Given the description of an element on the screen output the (x, y) to click on. 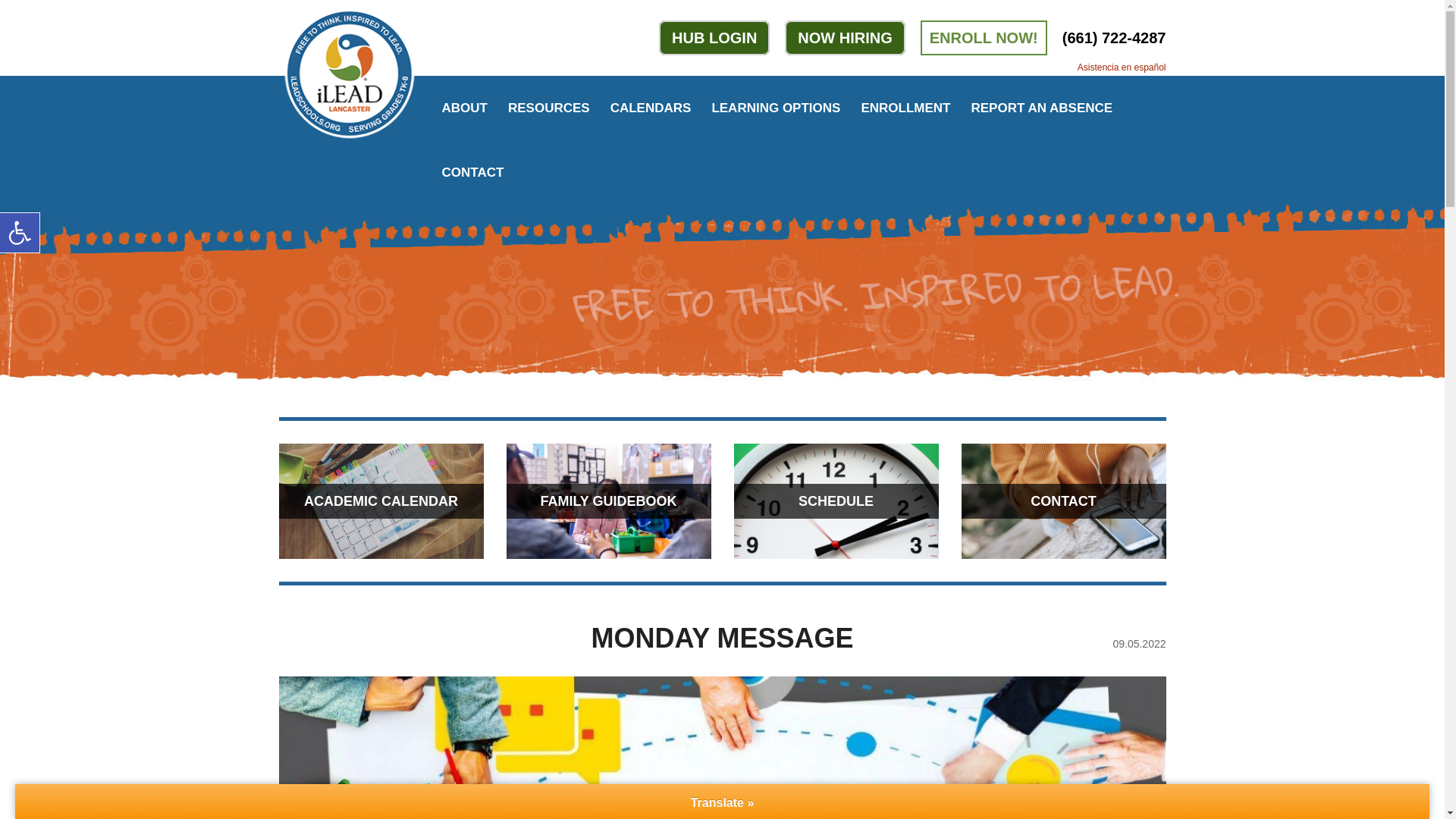
HUB LOGIN (714, 37)
ENROLL NOW! (983, 37)
Accessibility Tools (19, 232)
NOW HIRING (844, 37)
ABOUT (463, 108)
Accessibility Tools (19, 232)
Resources iLEAD Lancaster (19, 232)
RESOURCES (547, 108)
About iLEAD Lancaster (547, 108)
Calendars iLEAD Lancaster (463, 108)
